Given the description of an element on the screen output the (x, y) to click on. 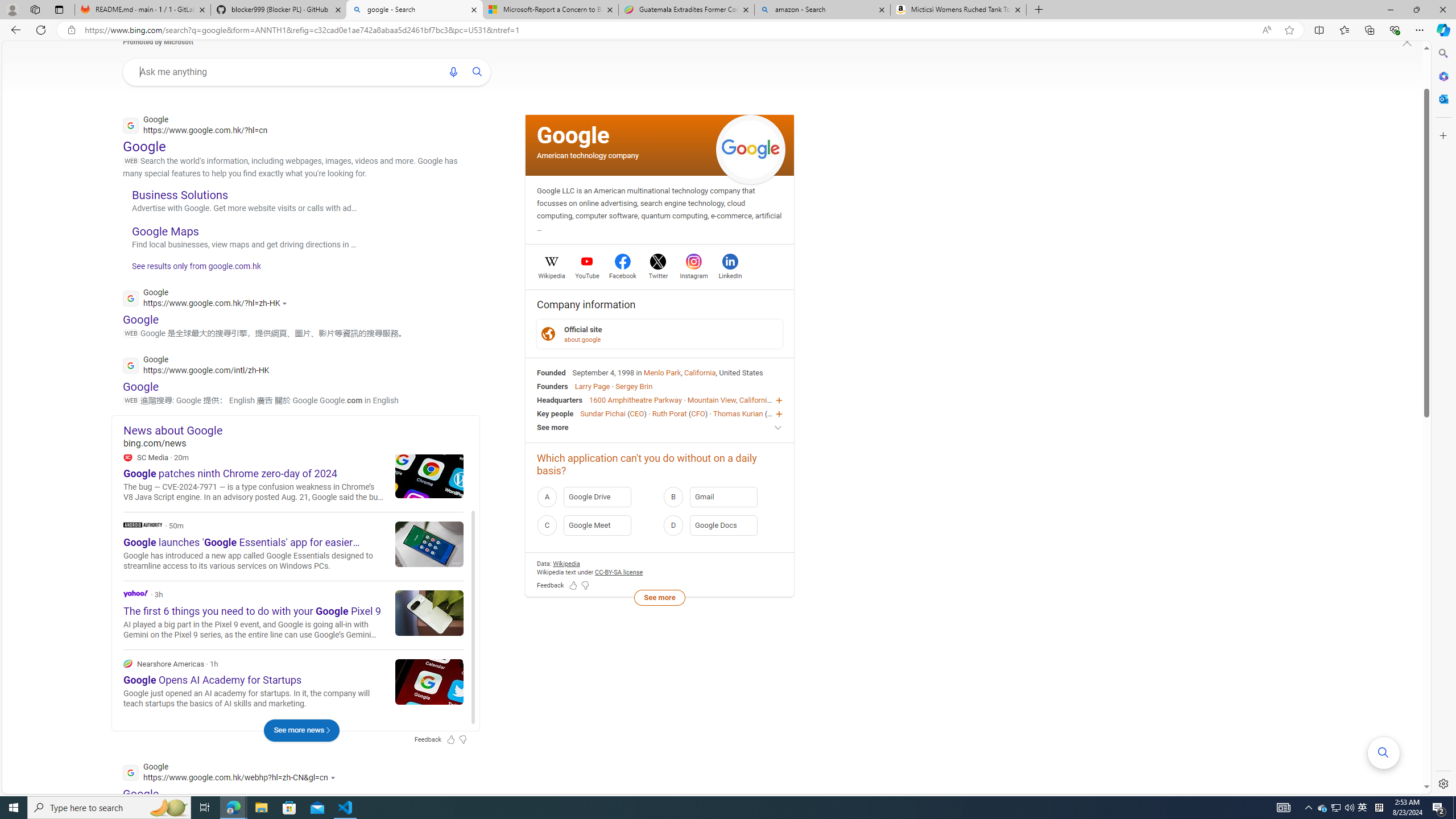
Like (396, 483)
App bar (728, 29)
Export (450, 483)
Google patches ninth Chrome zero-day of 2024 (428, 474)
Key people (555, 412)
Close tab (1017, 9)
B Gmail (722, 496)
